Given the description of an element on the screen output the (x, y) to click on. 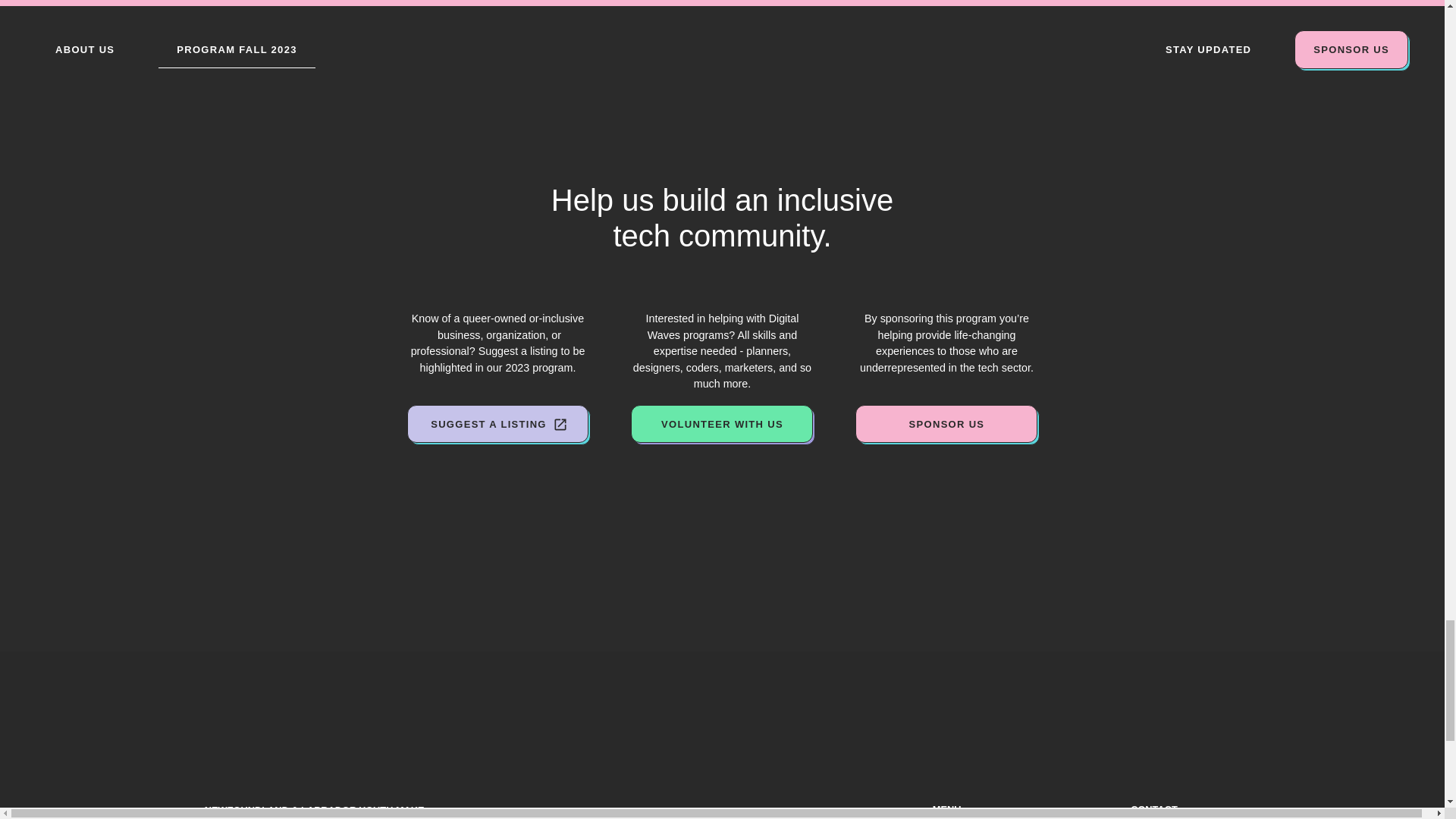
SUGGEST A LISTING (497, 423)
SPONSOR US (946, 423)
VOLUNTEER WITH US (721, 423)
